Given the description of an element on the screen output the (x, y) to click on. 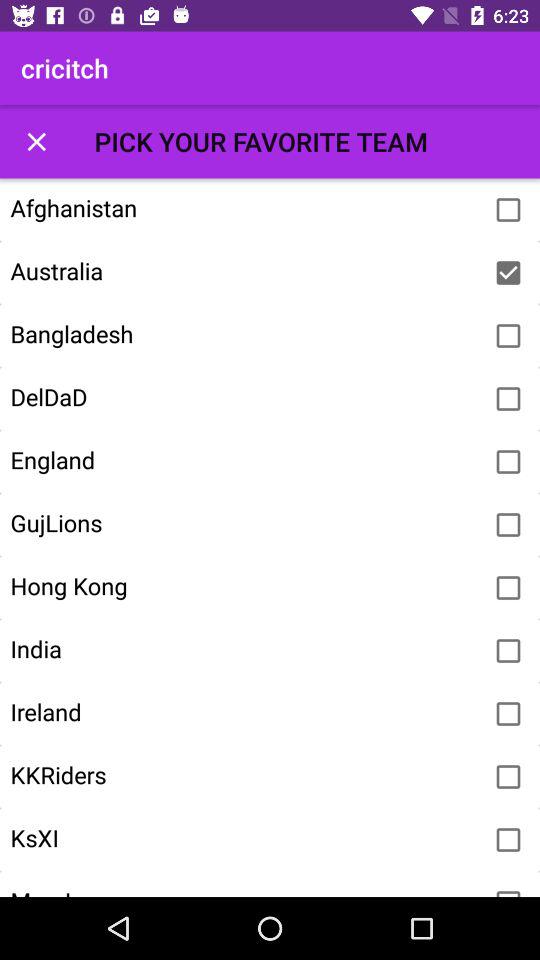
add the team to favorites (508, 210)
